Given the description of an element on the screen output the (x, y) to click on. 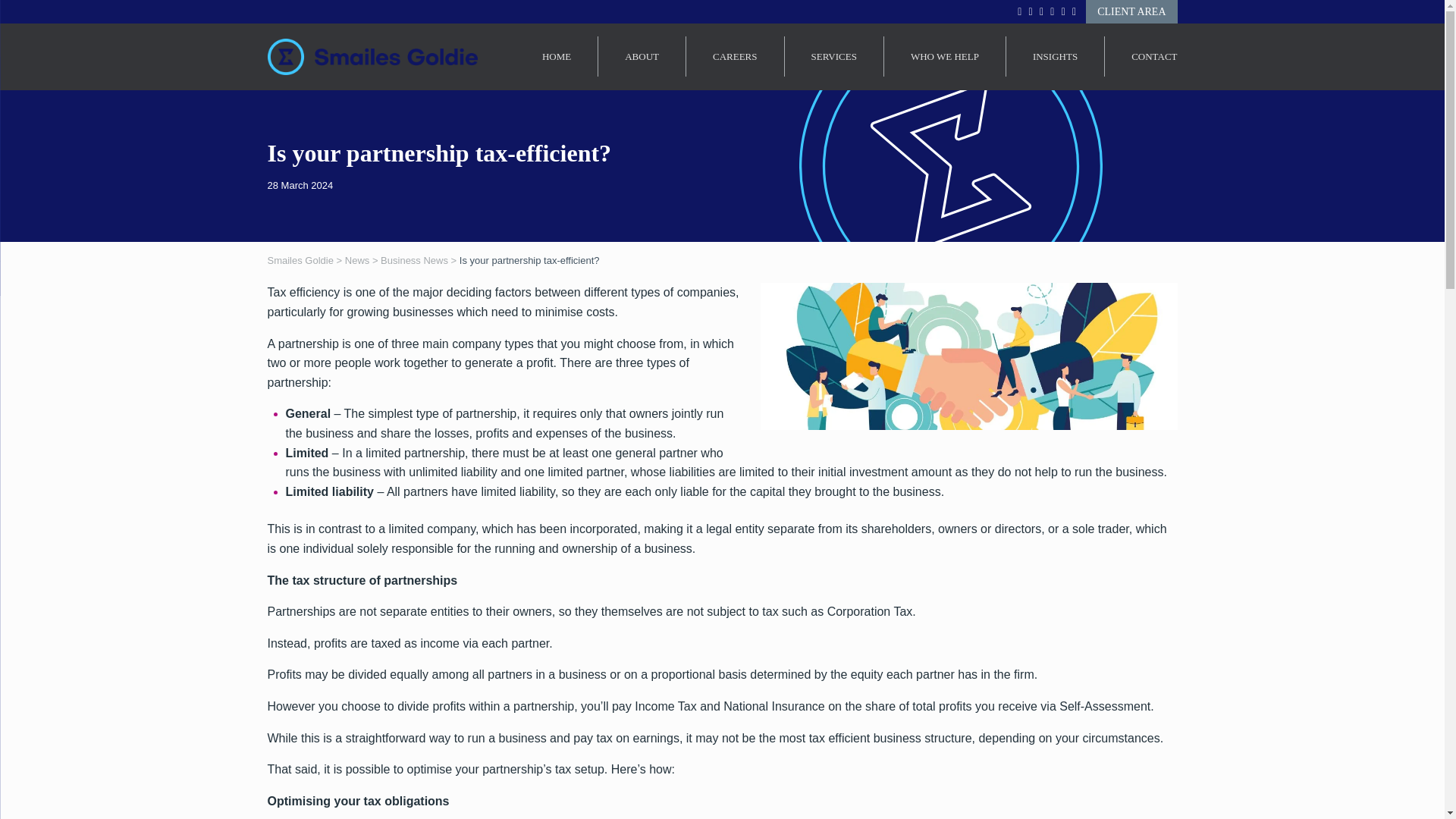
ABOUT (641, 56)
Go to Smailes Goldie. (299, 260)
WHO WE HELP (944, 56)
CLIENT AREA (1131, 11)
HOME (555, 56)
Smailes Goldie (371, 56)
SERVICES (833, 56)
Go to the Business News Category archives. (414, 260)
CAREERS (734, 56)
Go to the News Category archives. (357, 260)
9:44 am (299, 185)
